Given the description of an element on the screen output the (x, y) to click on. 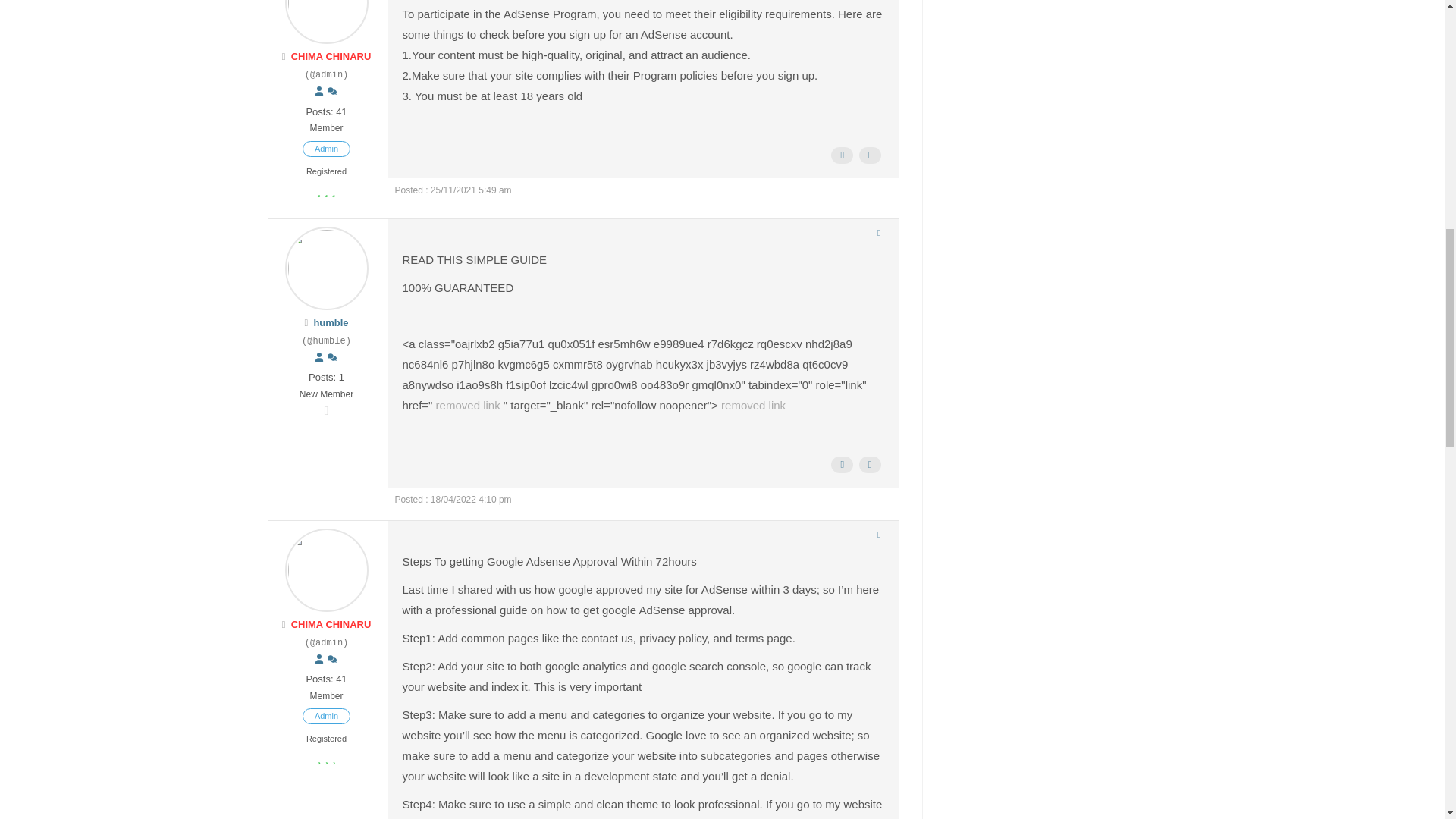
CHIMA CHINARU (331, 56)
